Given the description of an element on the screen output the (x, y) to click on. 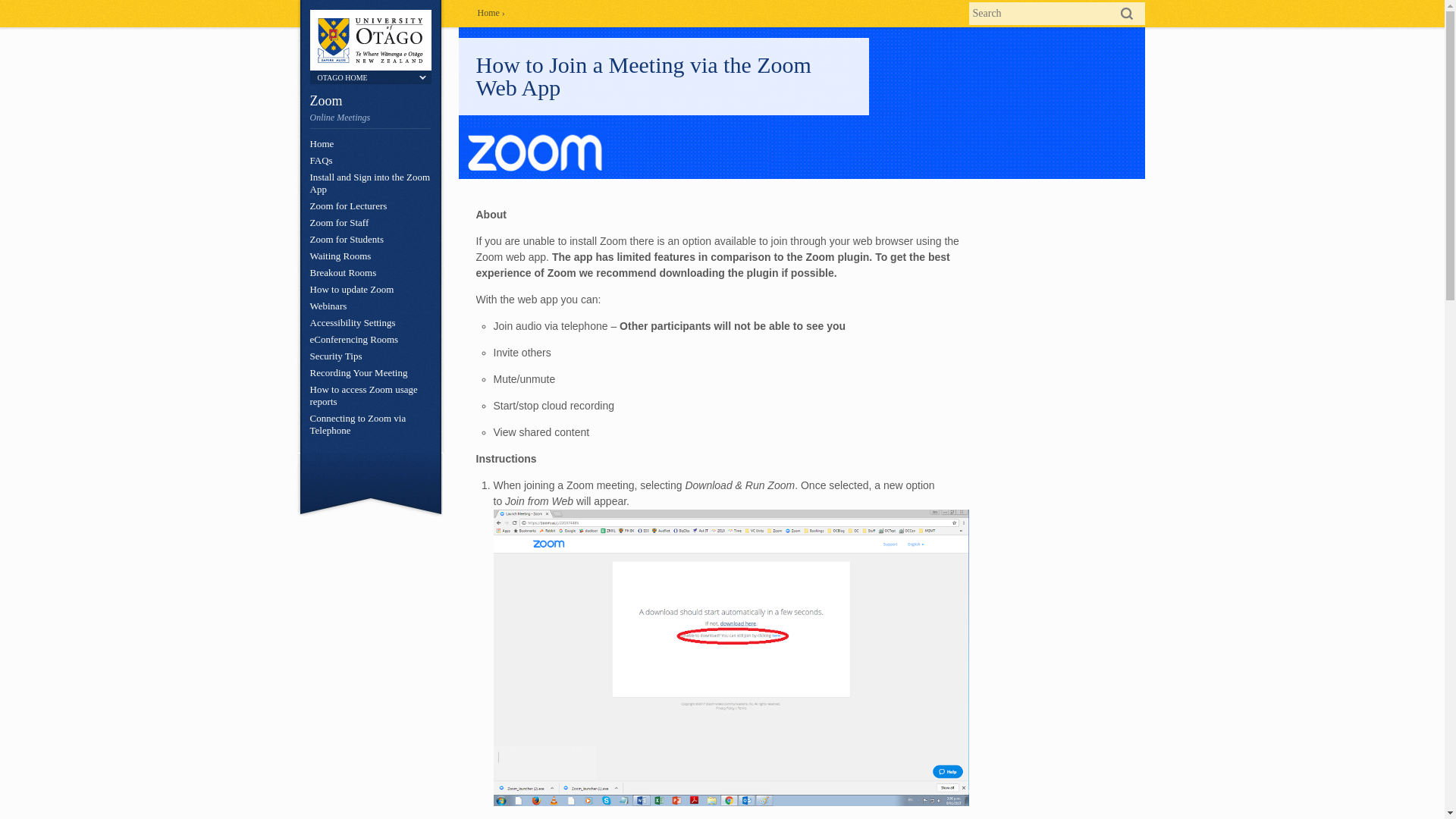
Zoom for Students (346, 238)
FAQs (319, 160)
Breakout Rooms (341, 272)
Home (488, 12)
Home (320, 143)
Install and Sign into the Zoom App (368, 182)
OTAGO HOME (369, 77)
Waiting Rooms (339, 255)
How to update Zoom (350, 288)
Accessibility Settings (351, 322)
Zoom for Staff (338, 222)
Zoom for Lecturers (347, 205)
Webinars (368, 110)
